Given the description of an element on the screen output the (x, y) to click on. 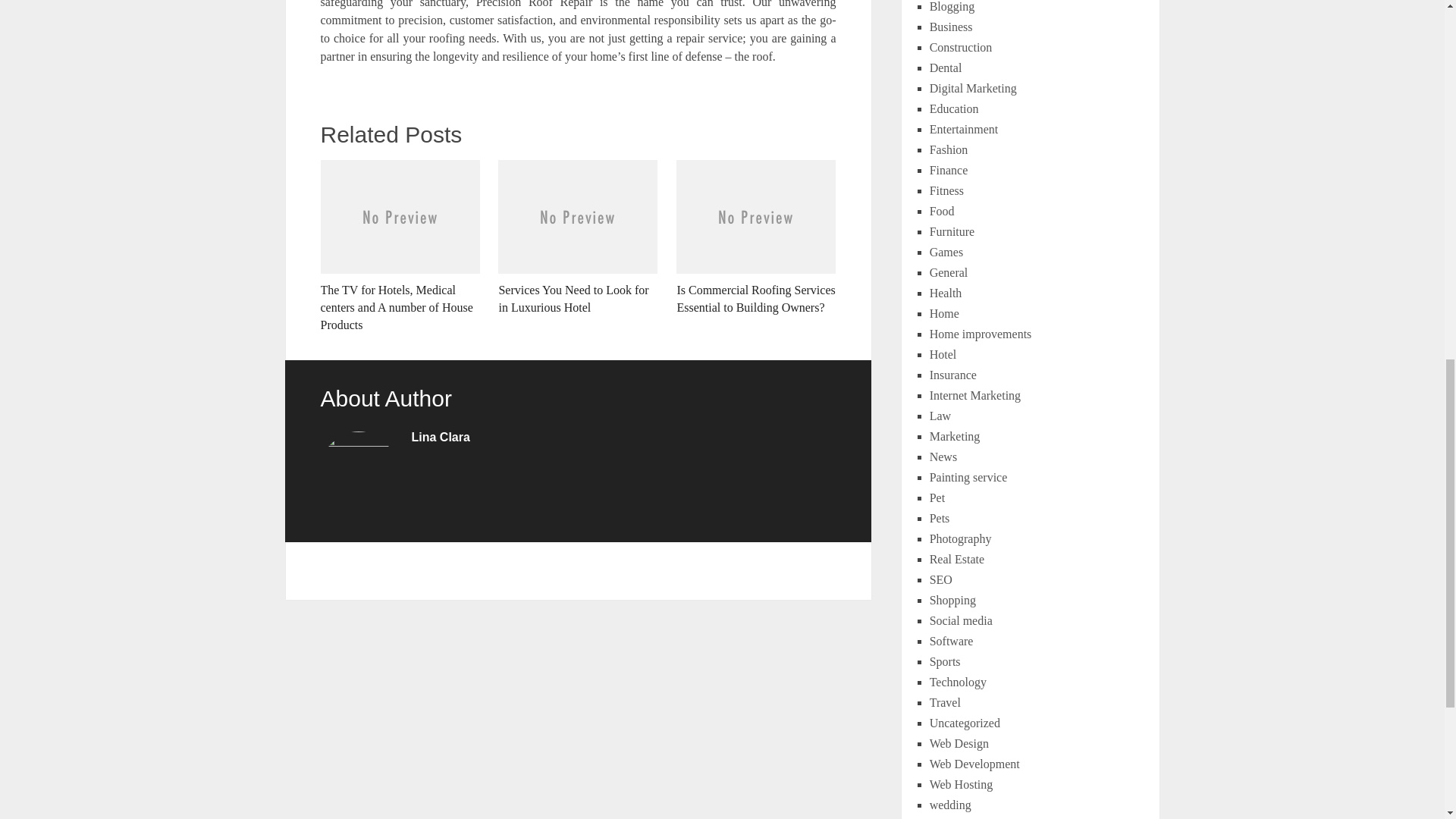
Fitness (946, 190)
Finance (949, 169)
Food (942, 210)
Is Commercial Roofing Services Essential to Building Owners? (756, 237)
Education (954, 108)
Is Commercial Roofing Services Essential to Building Owners? (756, 237)
Services You Need to Look for in Luxurious Hotel (577, 237)
Digital Marketing (973, 88)
Home (944, 313)
Blogging (952, 6)
Construction (961, 47)
Fashion (949, 149)
Furniture (952, 231)
